Given the description of an element on the screen output the (x, y) to click on. 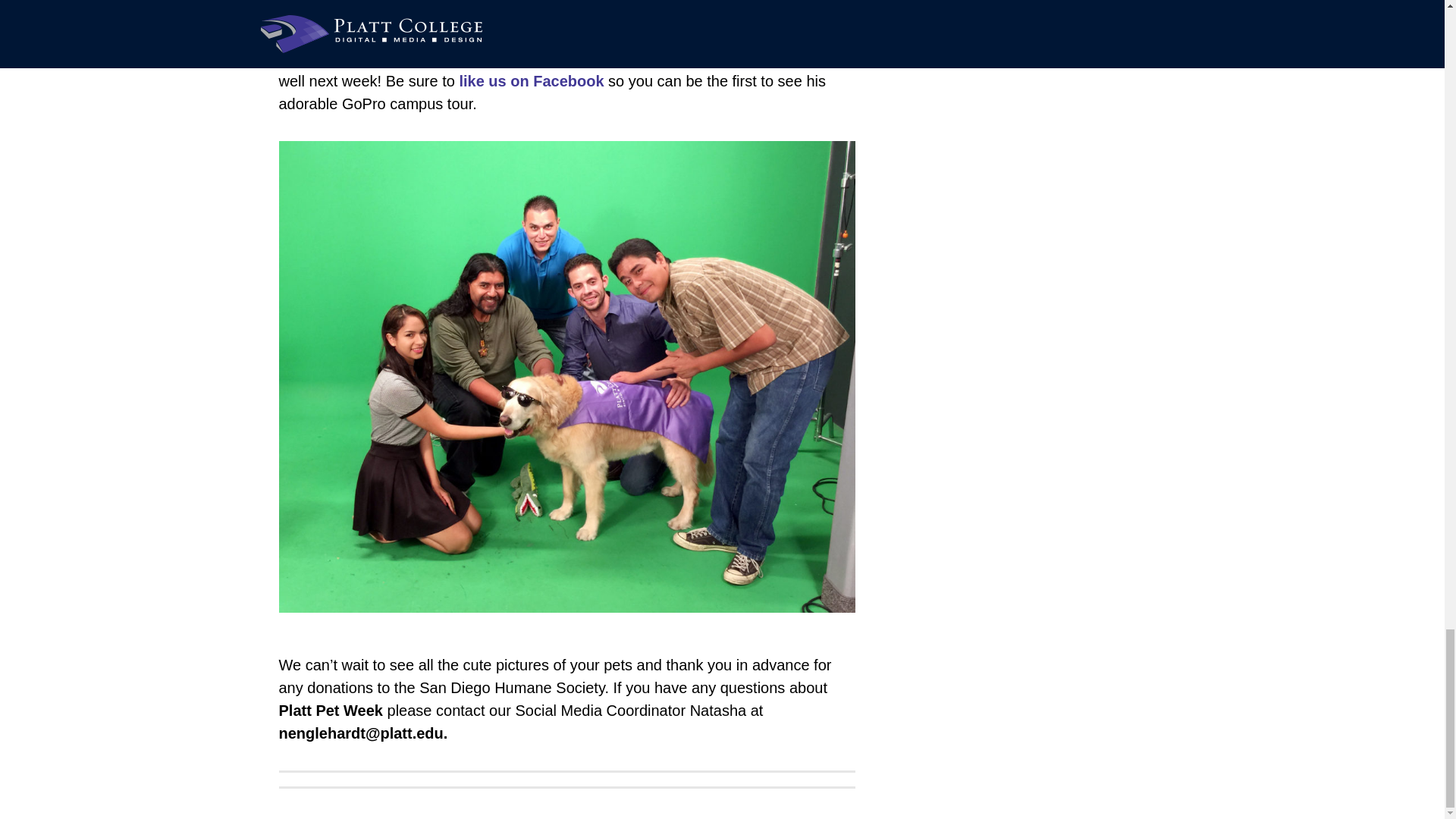
like us on Facebook (531, 80)
Vedder (748, 12)
Vedder on Instagram (748, 12)
Platt College San Diego on Facebook (531, 80)
